Given the description of an element on the screen output the (x, y) to click on. 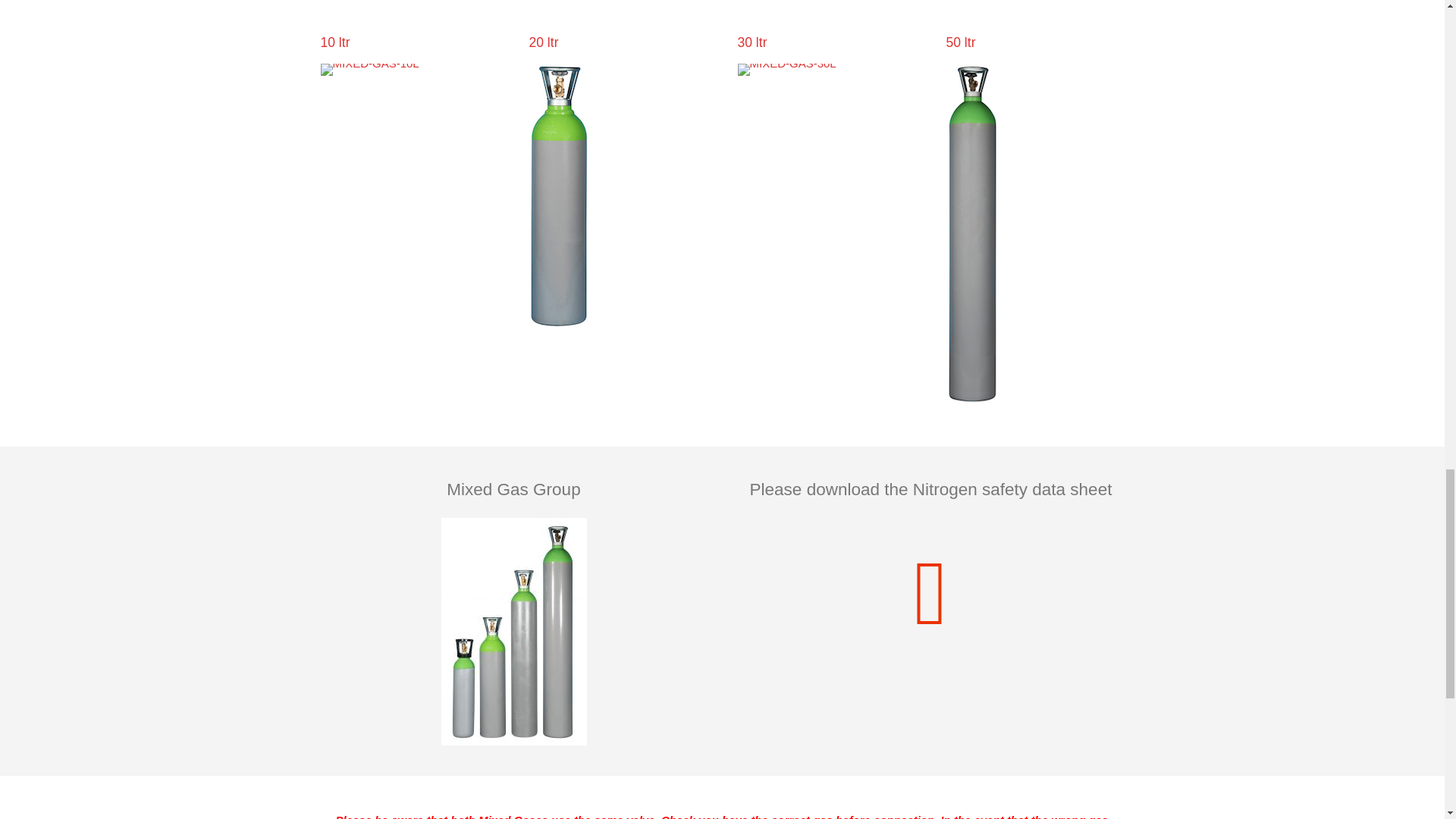
MIXED-GAS-30L (785, 69)
30 ltr (751, 42)
10 ltr (334, 42)
MIXED-GAS-10L (369, 69)
20 ltr (544, 42)
50 ltr (960, 42)
